Given the description of an element on the screen output the (x, y) to click on. 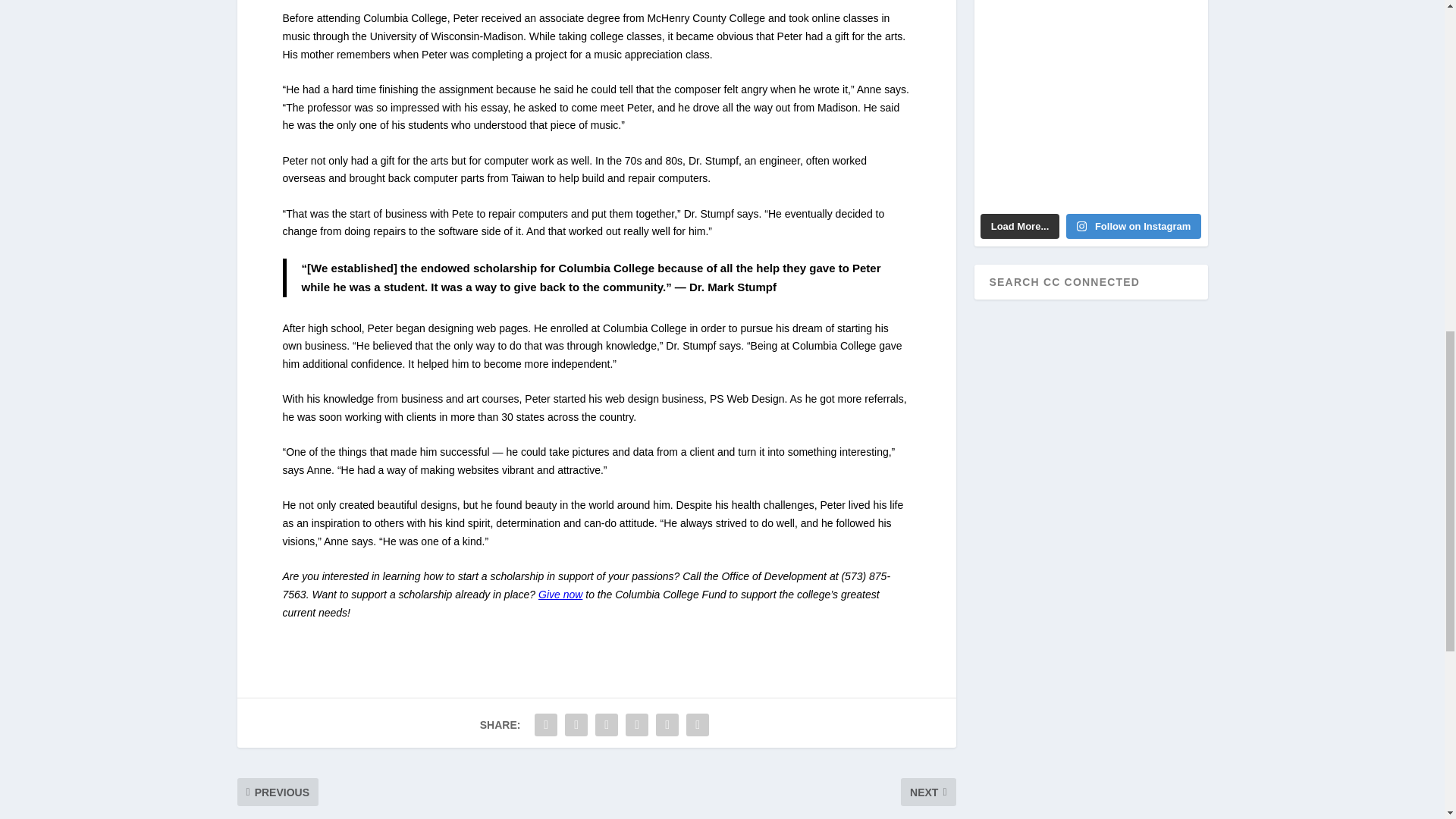
Share "A gift to others" via Email (667, 725)
Share "A gift to others" via Print (697, 725)
Share "A gift to others" via Pinterest (606, 725)
Share "A gift to others" via LinkedIn (636, 725)
Share "A gift to others" via Twitter (575, 725)
Share "A gift to others" via Facebook (545, 725)
